Given the description of an element on the screen output the (x, y) to click on. 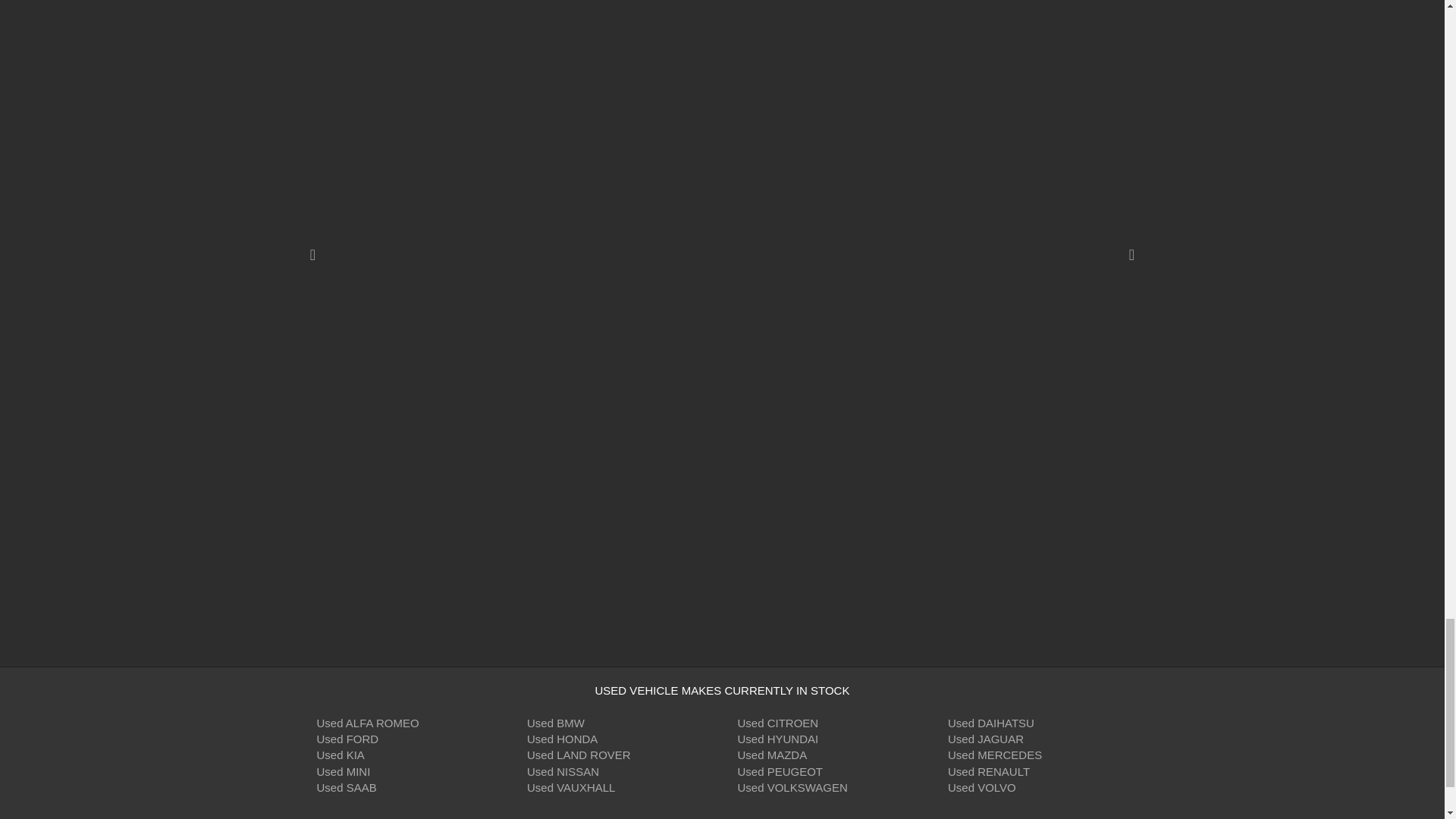
Used ALFA ROMEO (368, 722)
Used CITROEN (777, 722)
Used BMW (556, 722)
